Given the description of an element on the screen output the (x, y) to click on. 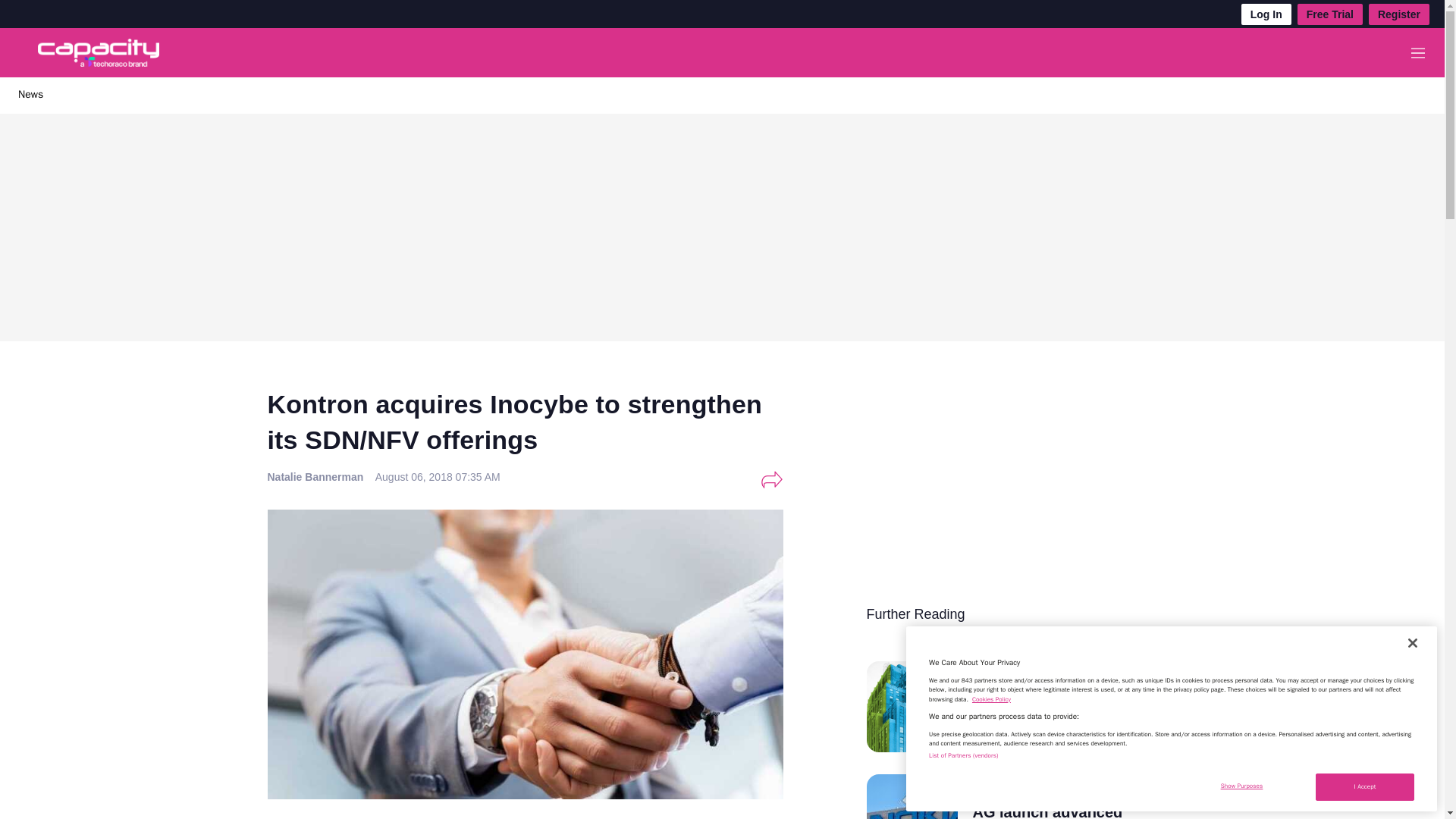
Free Trial (1329, 13)
3rd party ad content (979, 496)
Log In (1266, 13)
Register (1398, 13)
Share (771, 479)
